Given the description of an element on the screen output the (x, y) to click on. 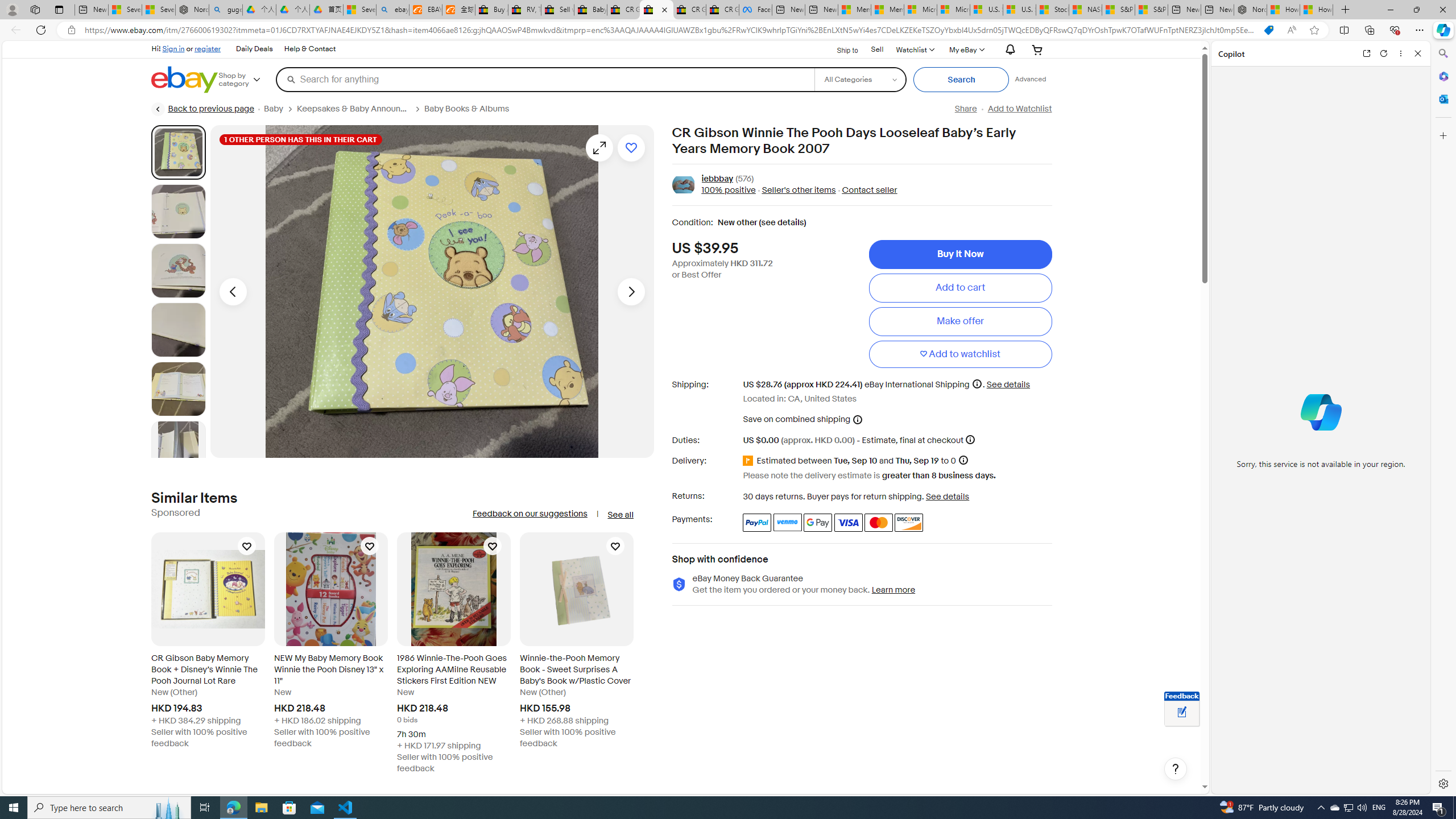
Baby (280, 108)
Contact seller (868, 190)
Information - Estimated delivery date - opens a layer (962, 460)
Help & Contact (309, 49)
Daily Deals (254, 49)
Baby (273, 108)
Daily Deals (254, 49)
